Given the description of an element on the screen output the (x, y) to click on. 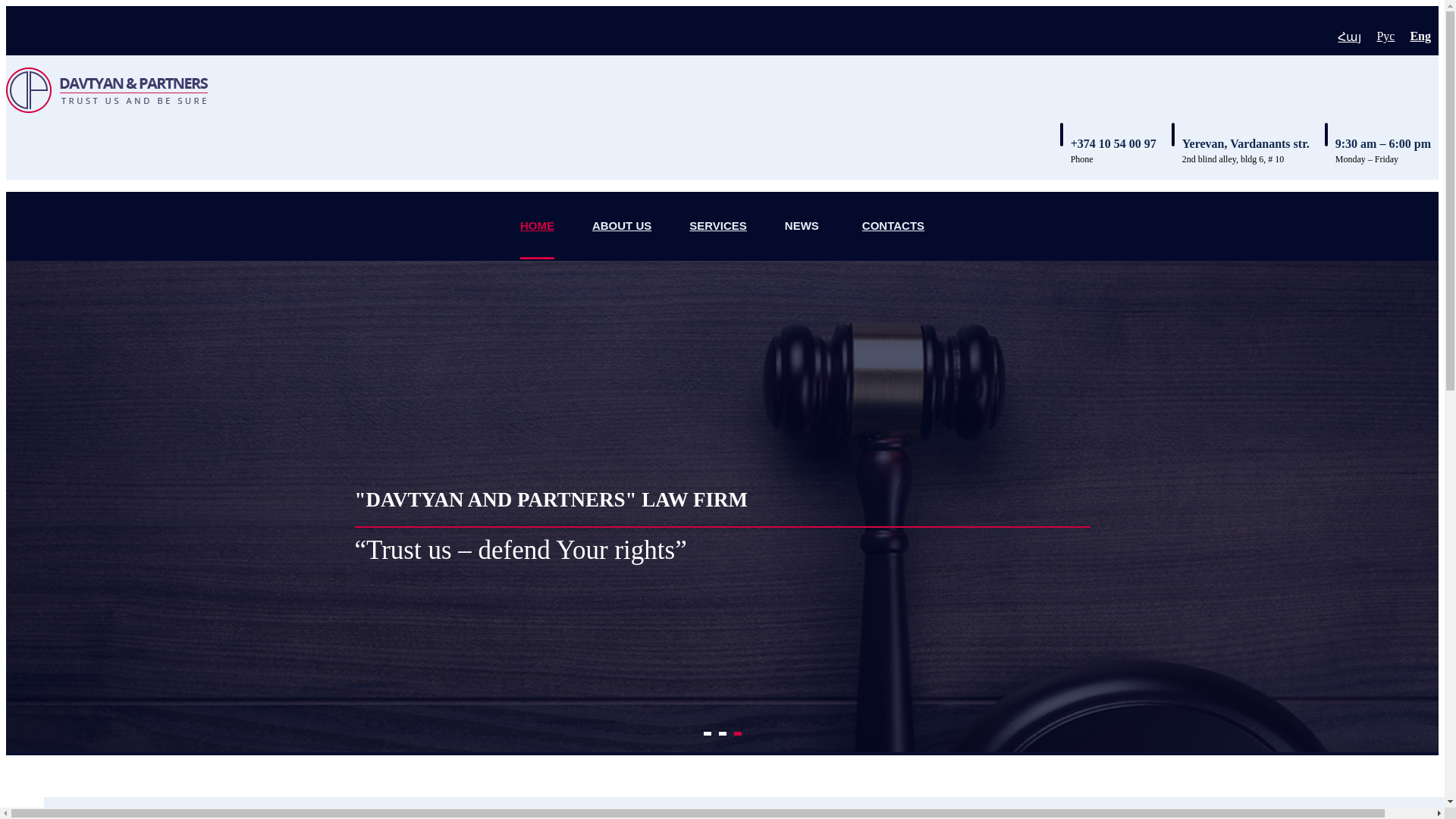
ABOUT US (621, 225)
SERVICES (717, 225)
Pyc (1384, 35)
Eng (1420, 35)
CONTACTS (892, 225)
NEWS (804, 225)
